Given the description of an element on the screen output the (x, y) to click on. 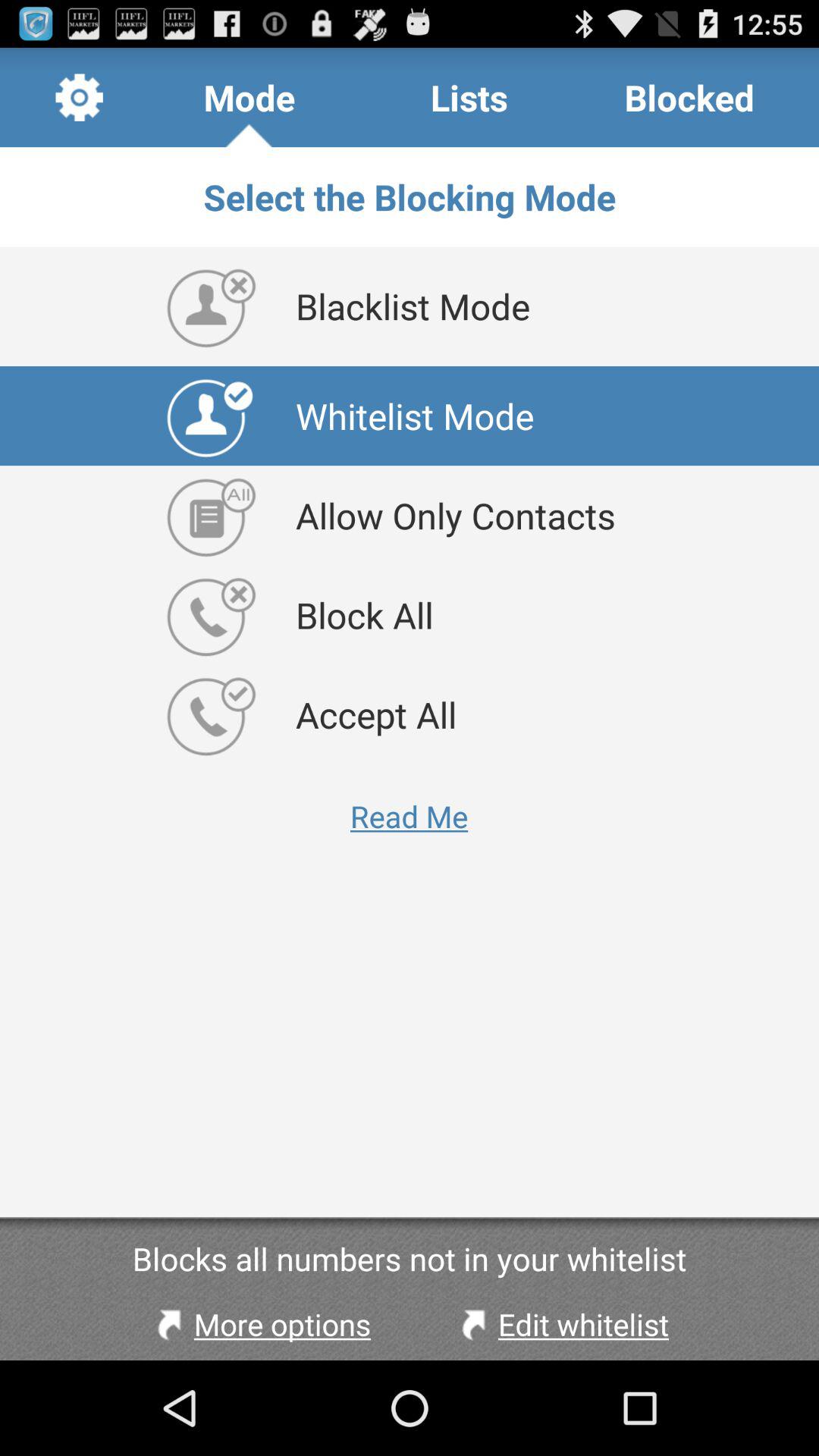
open the item at the top right corner (689, 97)
